Given the description of an element on the screen output the (x, y) to click on. 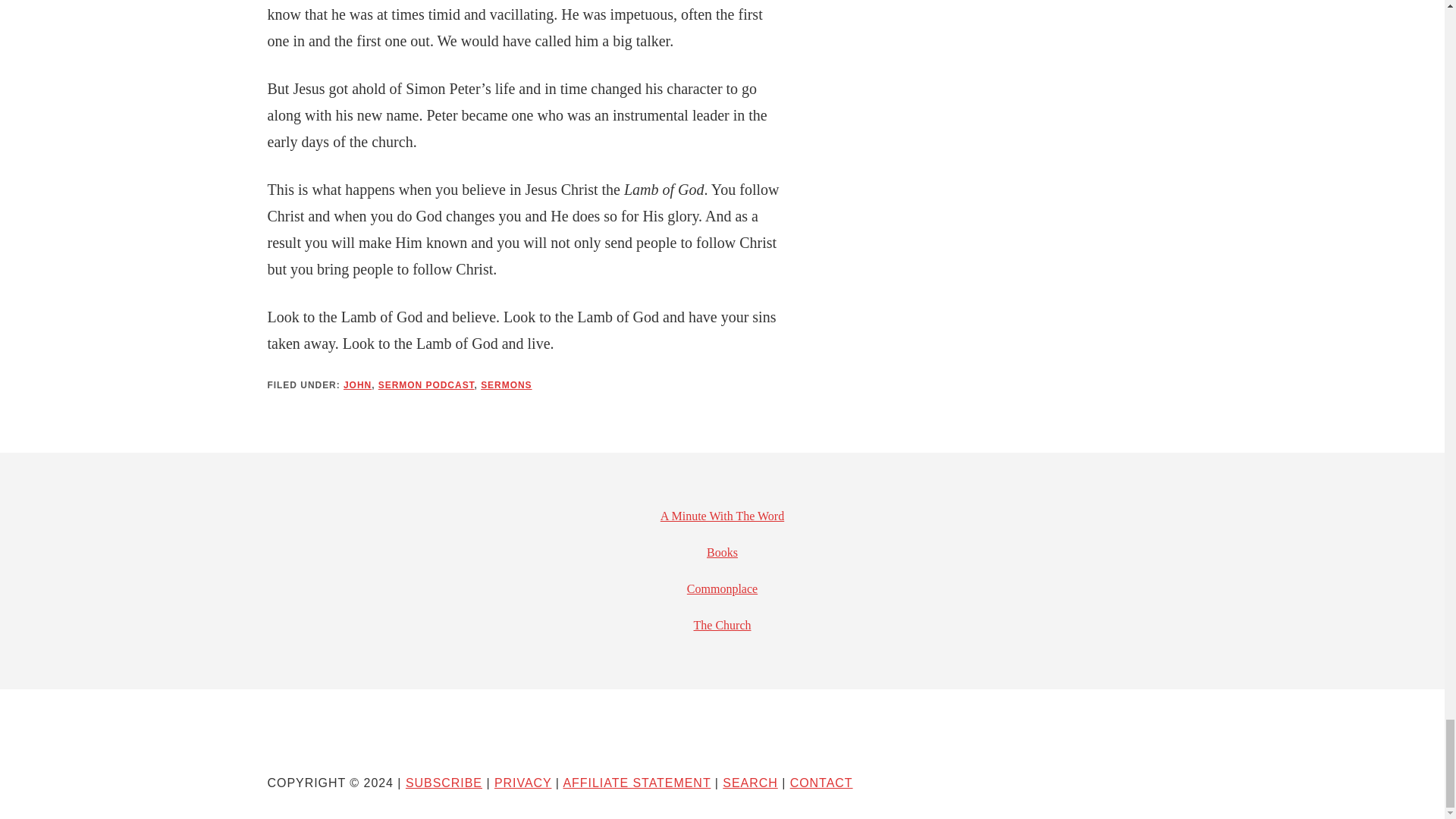
A Minute With The Word (722, 515)
SERMON PODCAST (426, 385)
The Church (722, 625)
Commonplace (722, 588)
Books (722, 552)
SERMONS (505, 385)
JOHN (357, 385)
